Given the description of an element on the screen output the (x, y) to click on. 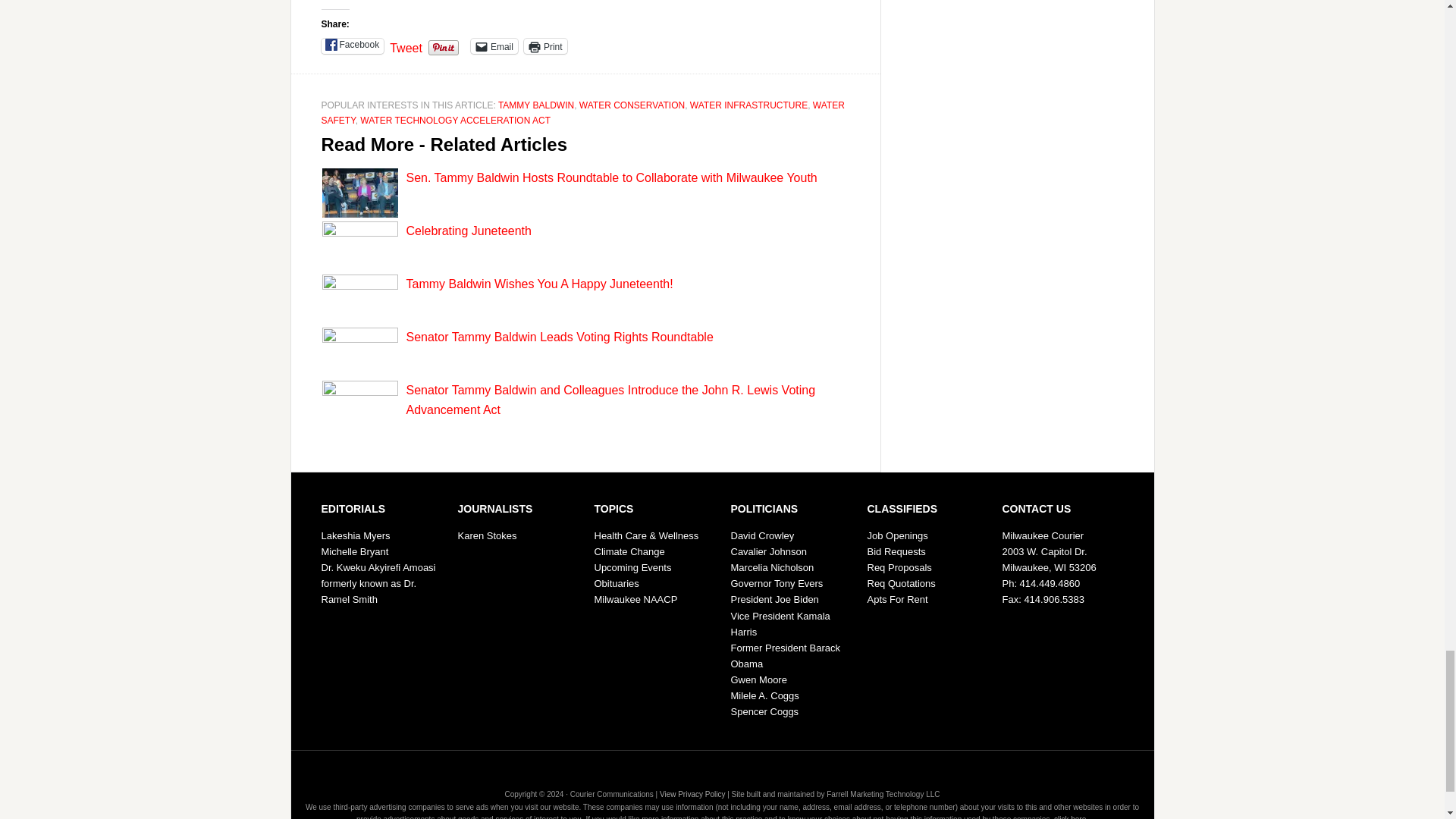
WATER SAFETY (582, 112)
WATER TECHNOLOGY ACCELERATION ACT (454, 120)
Click to print (545, 46)
WATER CONSERVATION (631, 104)
Tammy Baldwin Wishes You A Happy Juneteenth! (539, 283)
Senator Tammy Baldwin Leads Voting Rights Roundtable (559, 336)
Facebook (352, 46)
Senator Tammy Baldwin Leads Voting Rights Roundtable (559, 336)
